Given the description of an element on the screen output the (x, y) to click on. 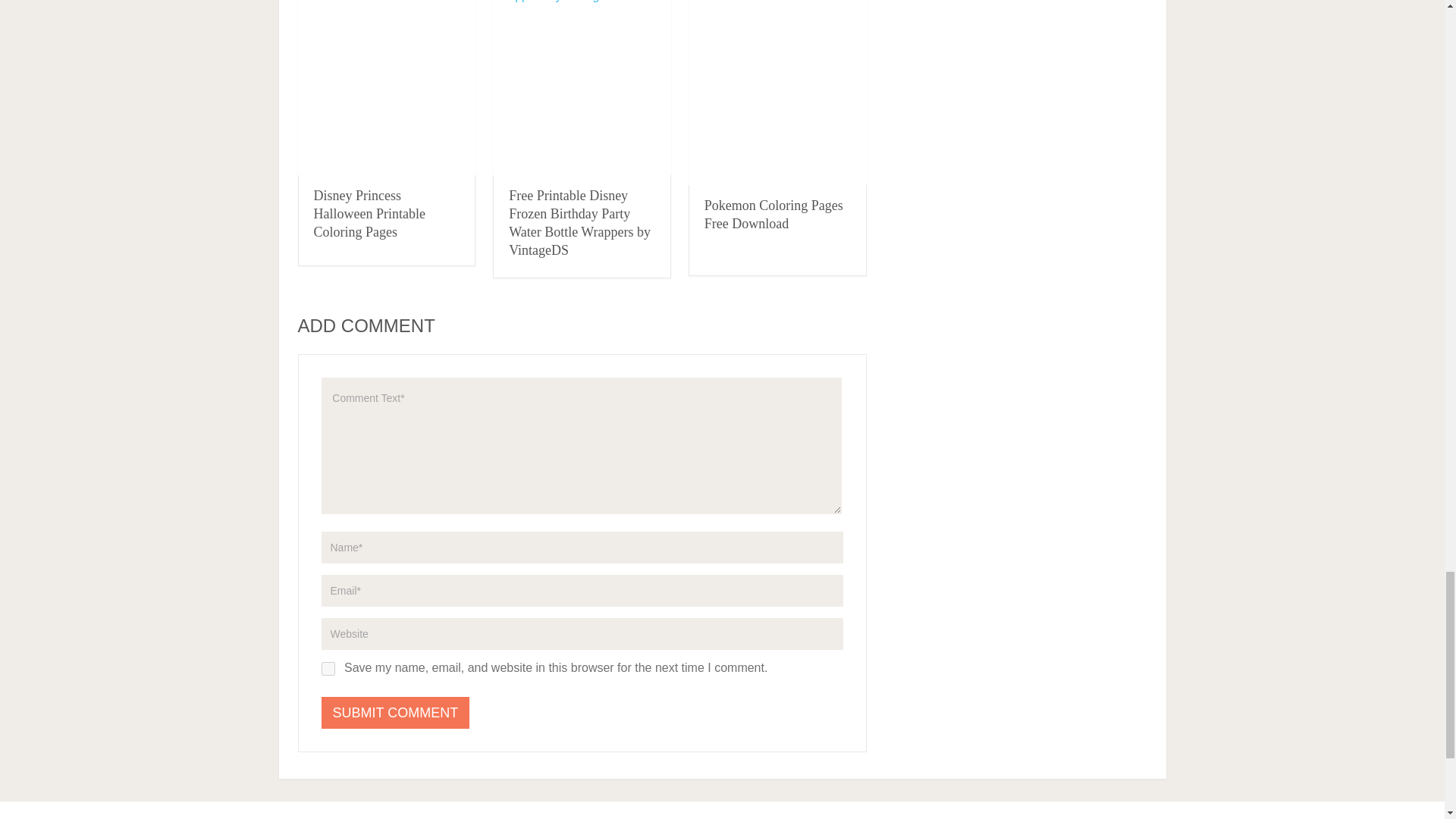
Pokemon Coloring Pages Free Download (773, 214)
yes (327, 668)
Submit Comment (395, 712)
Disney Princess Halloween Printable Coloring Pages (369, 213)
Submit Comment (395, 712)
